Given the description of an element on the screen output the (x, y) to click on. 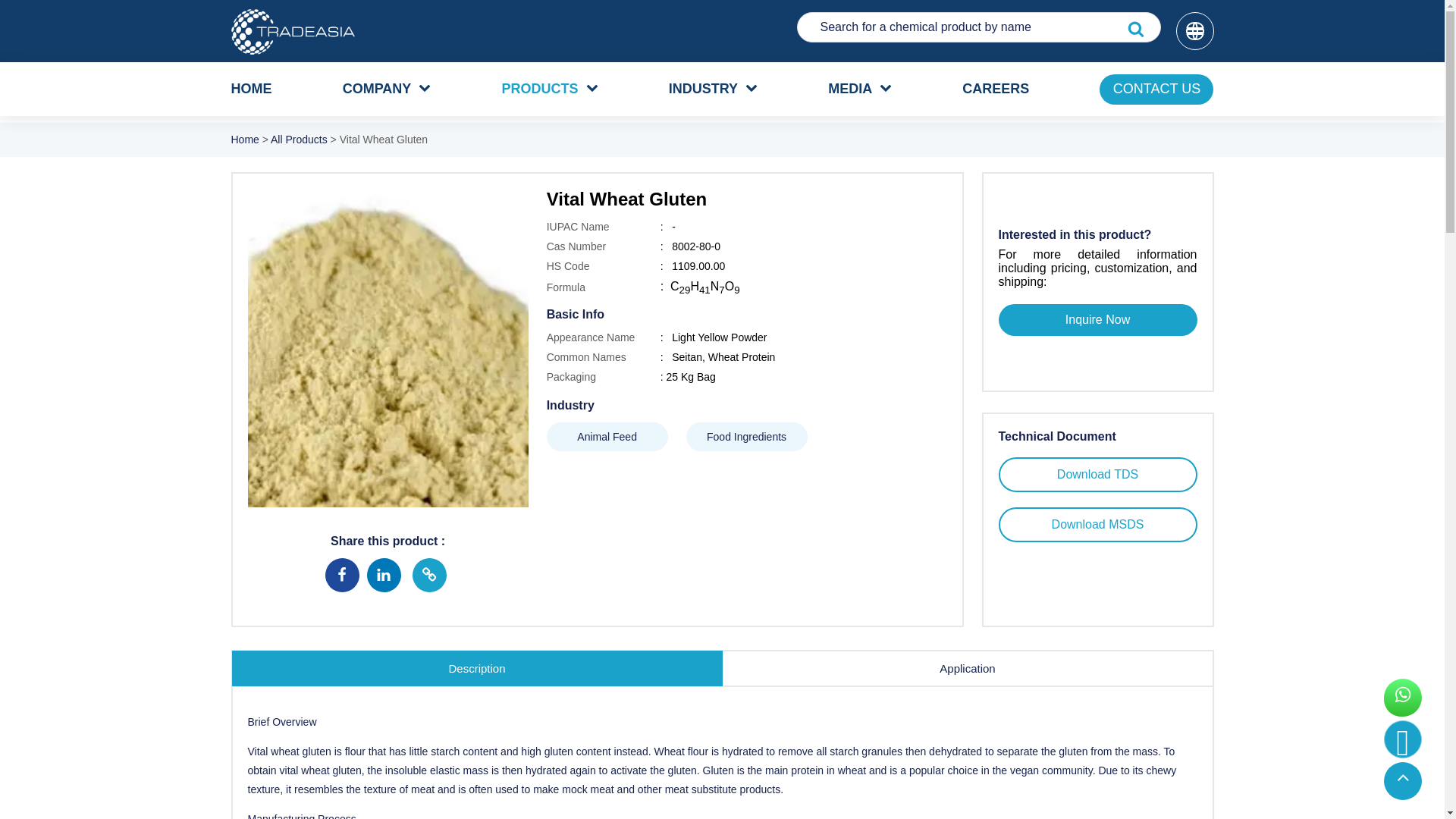
MEDIA (850, 89)
Home (246, 139)
Best Chemical Supplier in Indonesia (291, 31)
PRODUCTS (539, 89)
COMPANY (377, 89)
INDUSTRY (703, 89)
CONTACT US (1155, 89)
All Products (298, 139)
CAREERS (995, 89)
